Given the description of an element on the screen output the (x, y) to click on. 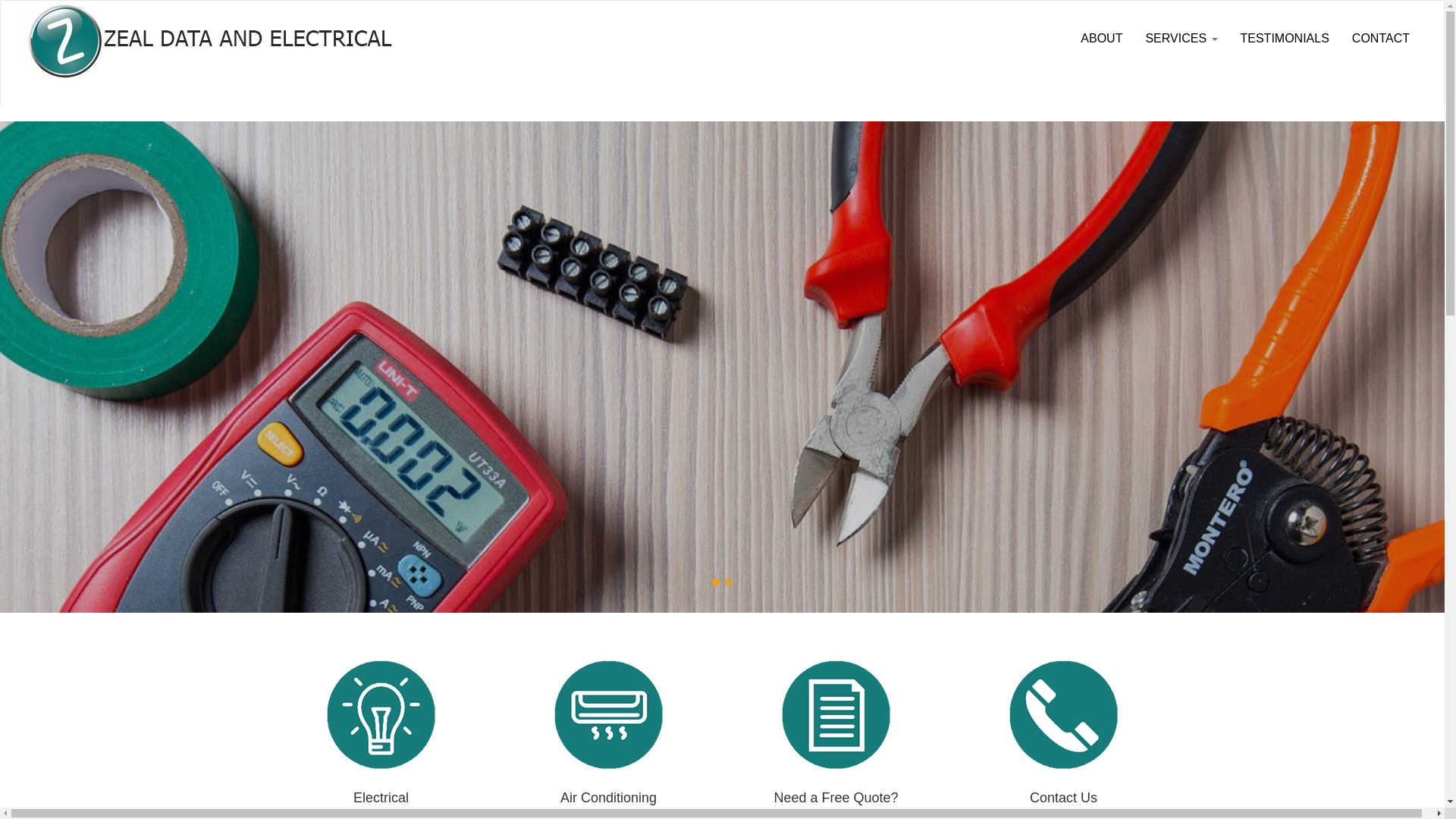
SERVICES Element type: text (1180, 38)
TESTIMONIALS Element type: text (1283, 38)
ABOUT
(CURRENT) Element type: text (1101, 38)
CONTACT Element type: text (1380, 38)
